Given the description of an element on the screen output the (x, y) to click on. 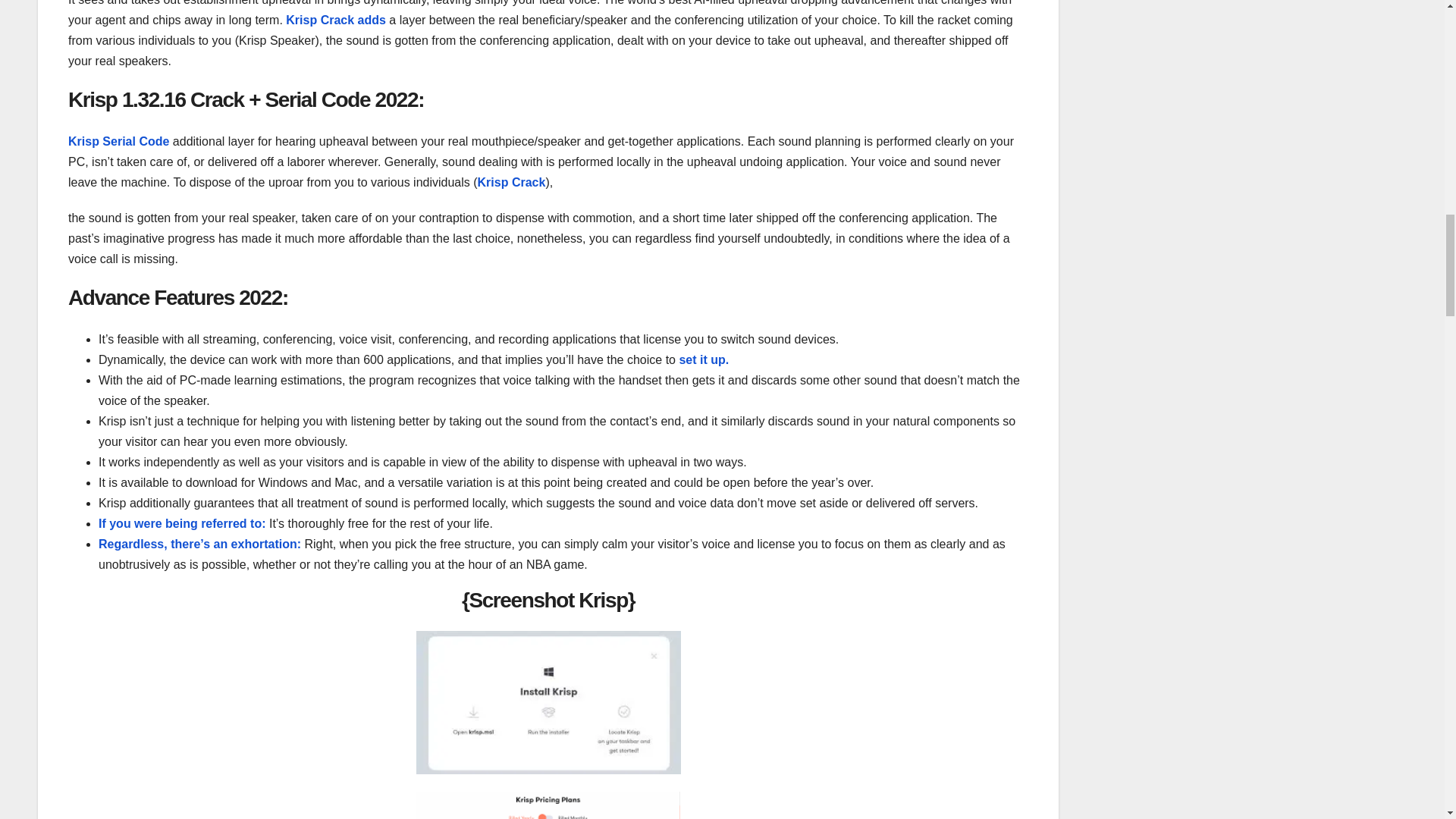
Krisp Crack adds (335, 19)
Krisp Serial Code (120, 141)
set it up. (703, 359)
If you were being referred to: (181, 522)
Krisp Crack (511, 182)
